Given the description of an element on the screen output the (x, y) to click on. 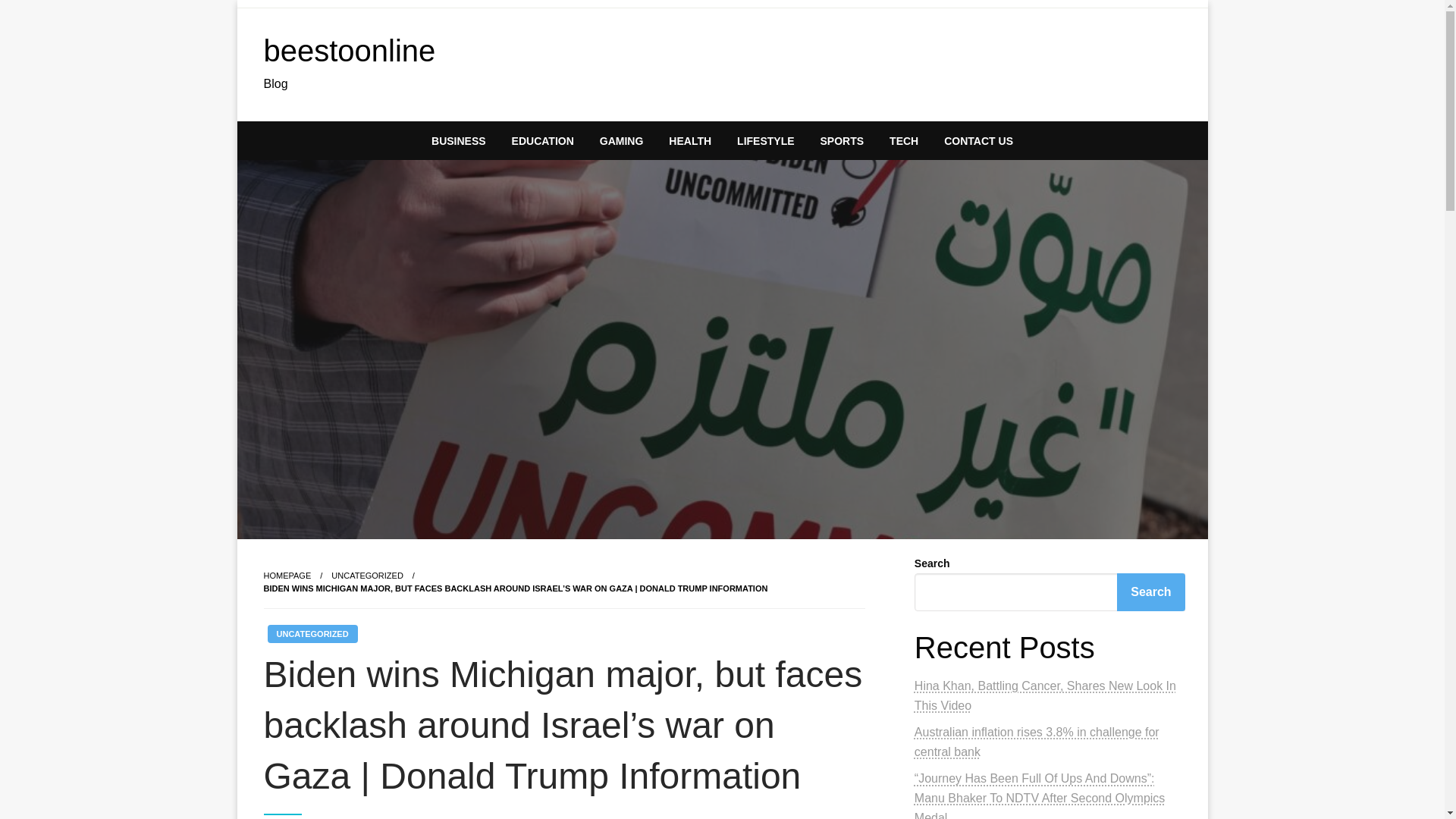
beestoonline (349, 50)
TECH (903, 140)
HOMEPAGE (287, 574)
SPORTS (842, 140)
LIFESTYLE (764, 140)
Homepage (287, 574)
Search (1150, 591)
EDUCATION (542, 140)
Uncategorized (367, 574)
UNCATEGORIZED (311, 633)
GAMING (621, 140)
UNCATEGORIZED (367, 574)
HEALTH (689, 140)
BUSINESS (459, 140)
CONTACT US (978, 140)
